Given the description of an element on the screen output the (x, y) to click on. 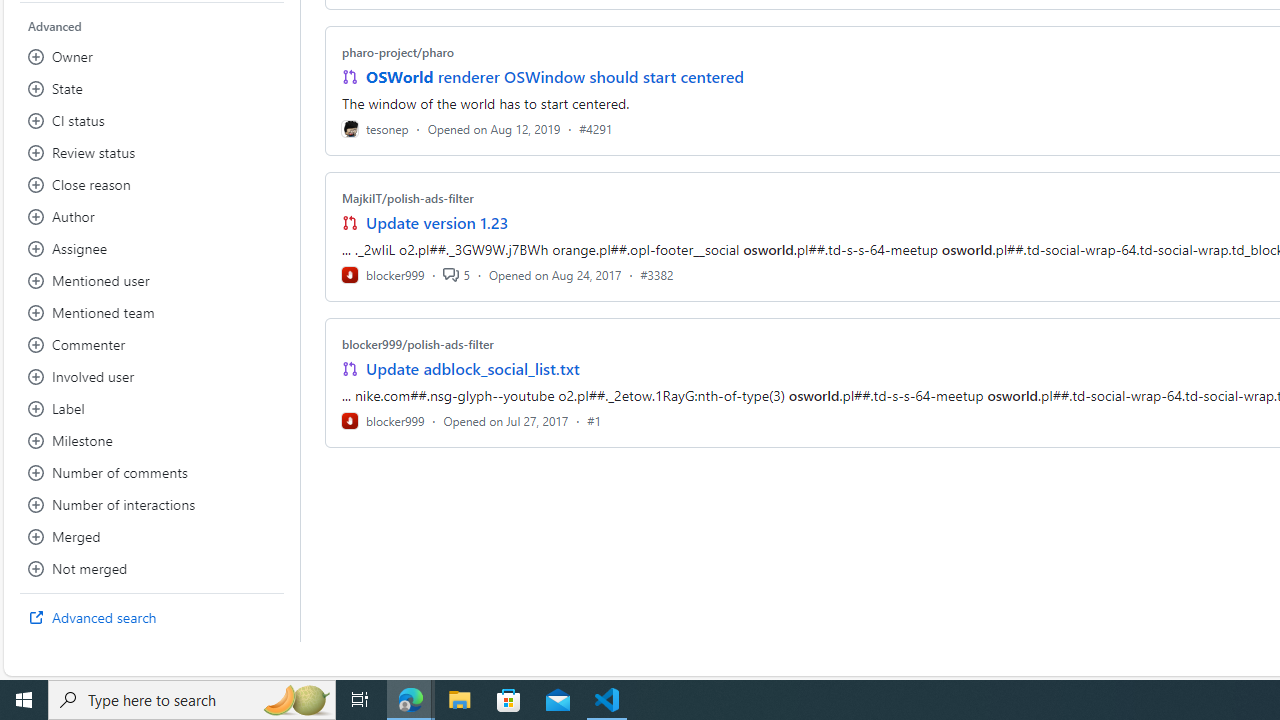
blocker999/polish-ads-filter (417, 343)
#1 (594, 420)
#3382 (657, 273)
